Given the description of an element on the screen output the (x, y) to click on. 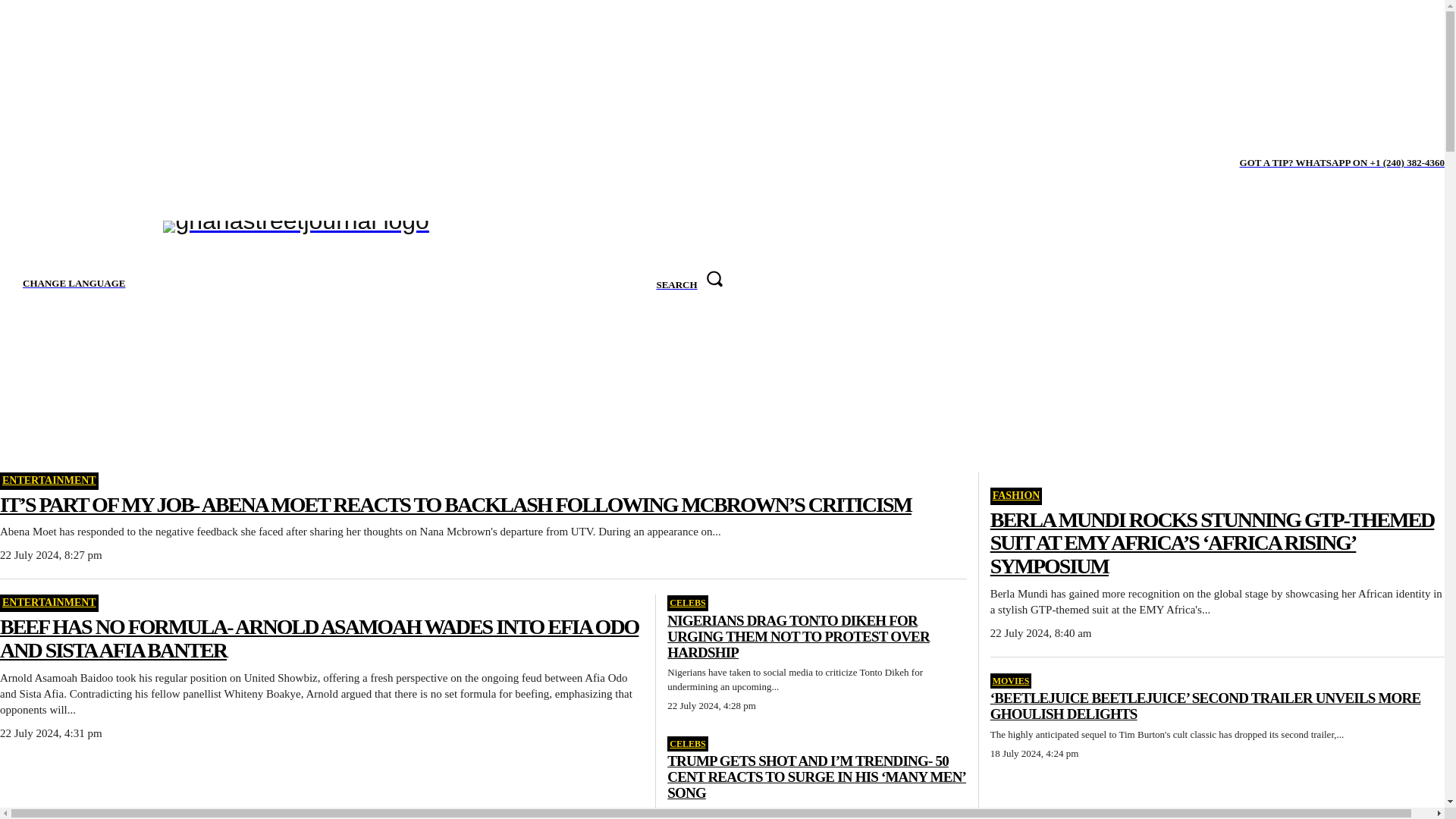
Search (689, 285)
Instagram (25, 163)
Twitter (72, 163)
Ghana Street Jounal (390, 277)
CHANGE LANGUAGE (69, 283)
Linkedin (48, 163)
Youtube (118, 163)
SEARCH (689, 285)
ENTERTAINMENT (49, 480)
CELEBS (686, 743)
Change language (69, 283)
WhatsApp (95, 163)
CELEBS (686, 602)
